Given the description of an element on the screen output the (x, y) to click on. 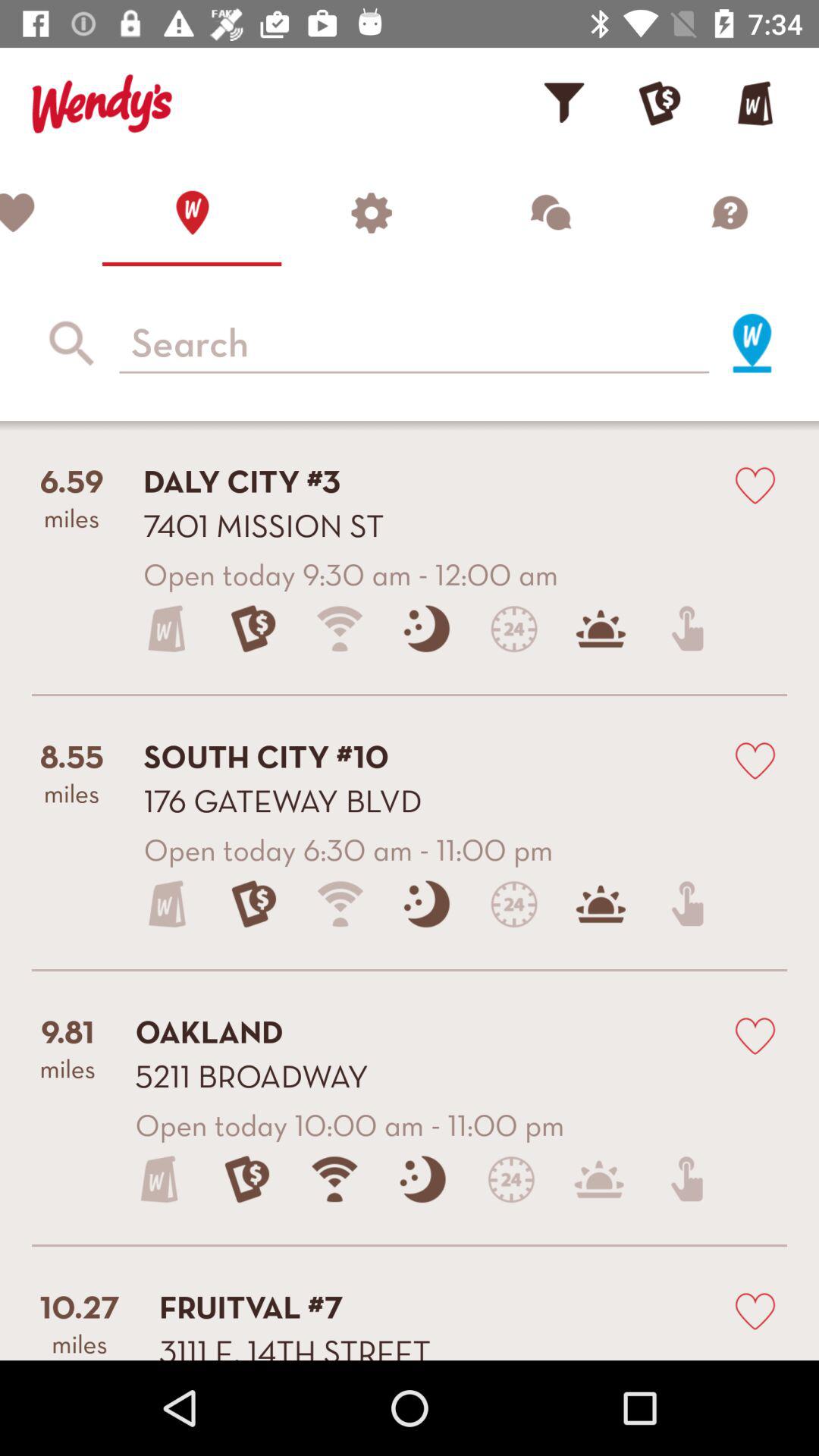
go to home page (191, 212)
